Given the description of an element on the screen output the (x, y) to click on. 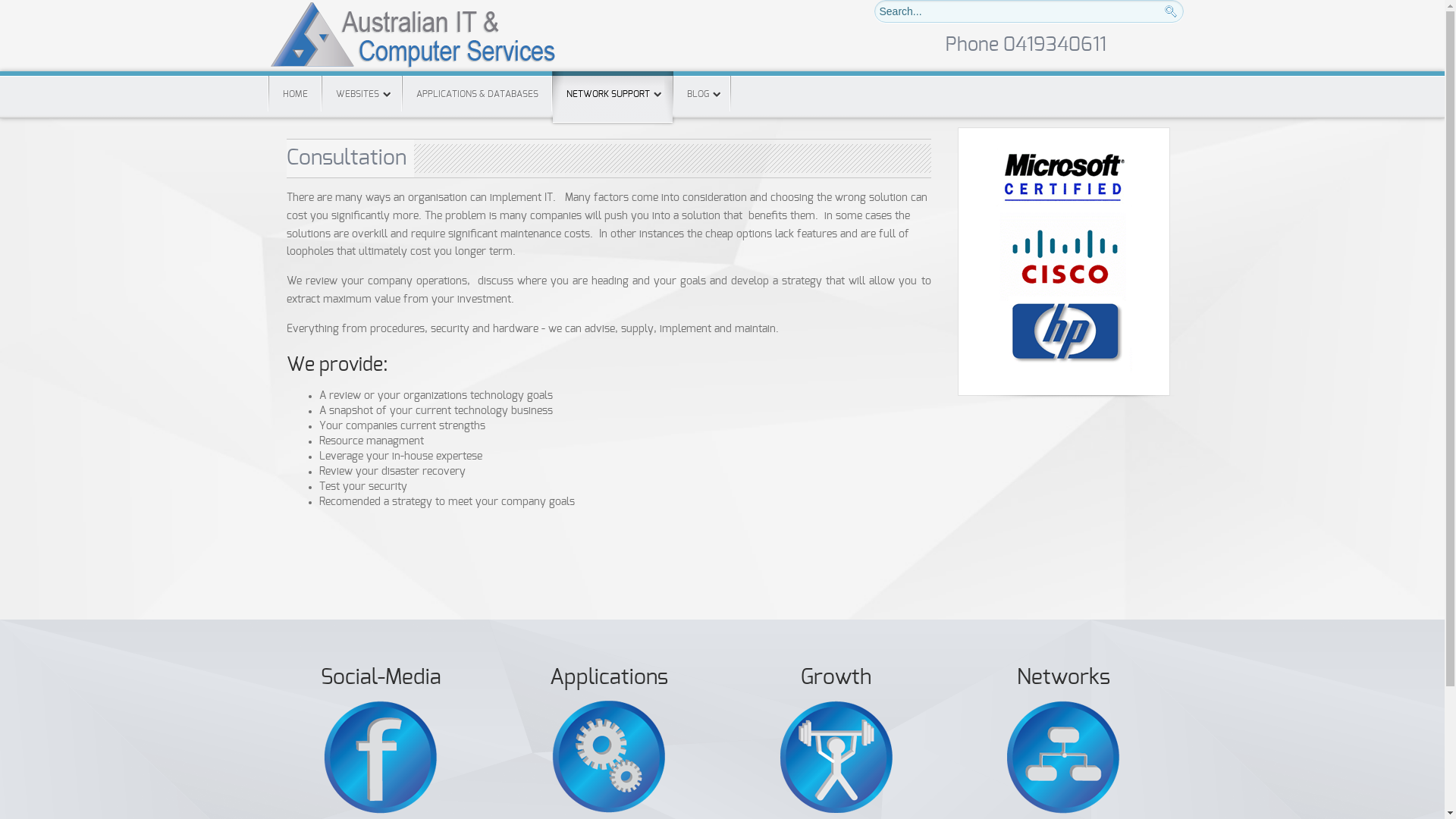
BLOG Element type: text (702, 94)
HOME Element type: text (294, 94)
APPLICATIONS & DATABASES Element type: text (476, 94)
NETWORK SUPPORT Element type: text (611, 96)
WEBSITES Element type: text (361, 94)
Consultation Element type: text (346, 158)
Phone 0419340611 Element type: text (1024, 44)
